Given the description of an element on the screen output the (x, y) to click on. 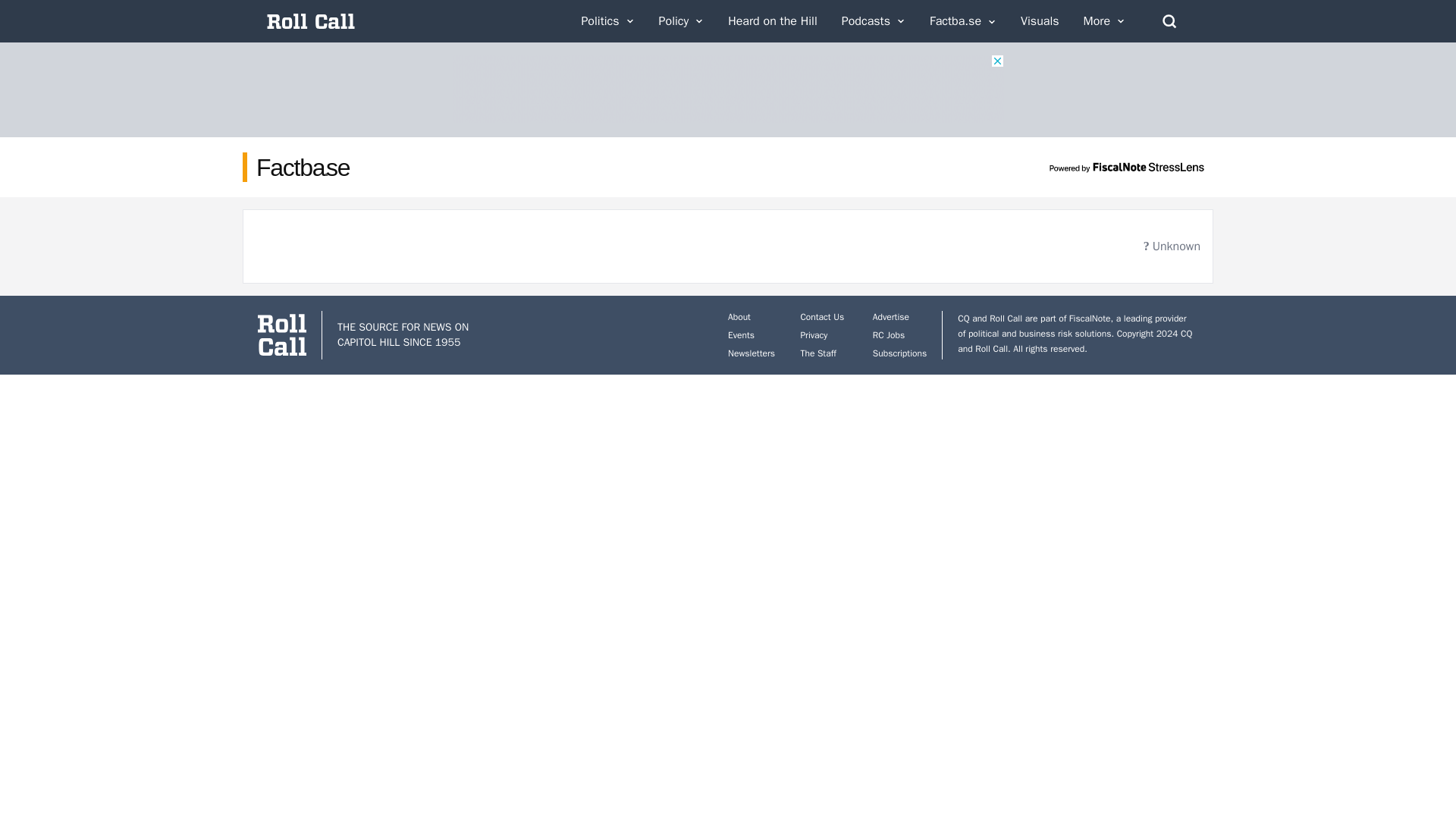
Unknown (1170, 246)
3rd party ad content (727, 88)
